Given the description of an element on the screen output the (x, y) to click on. 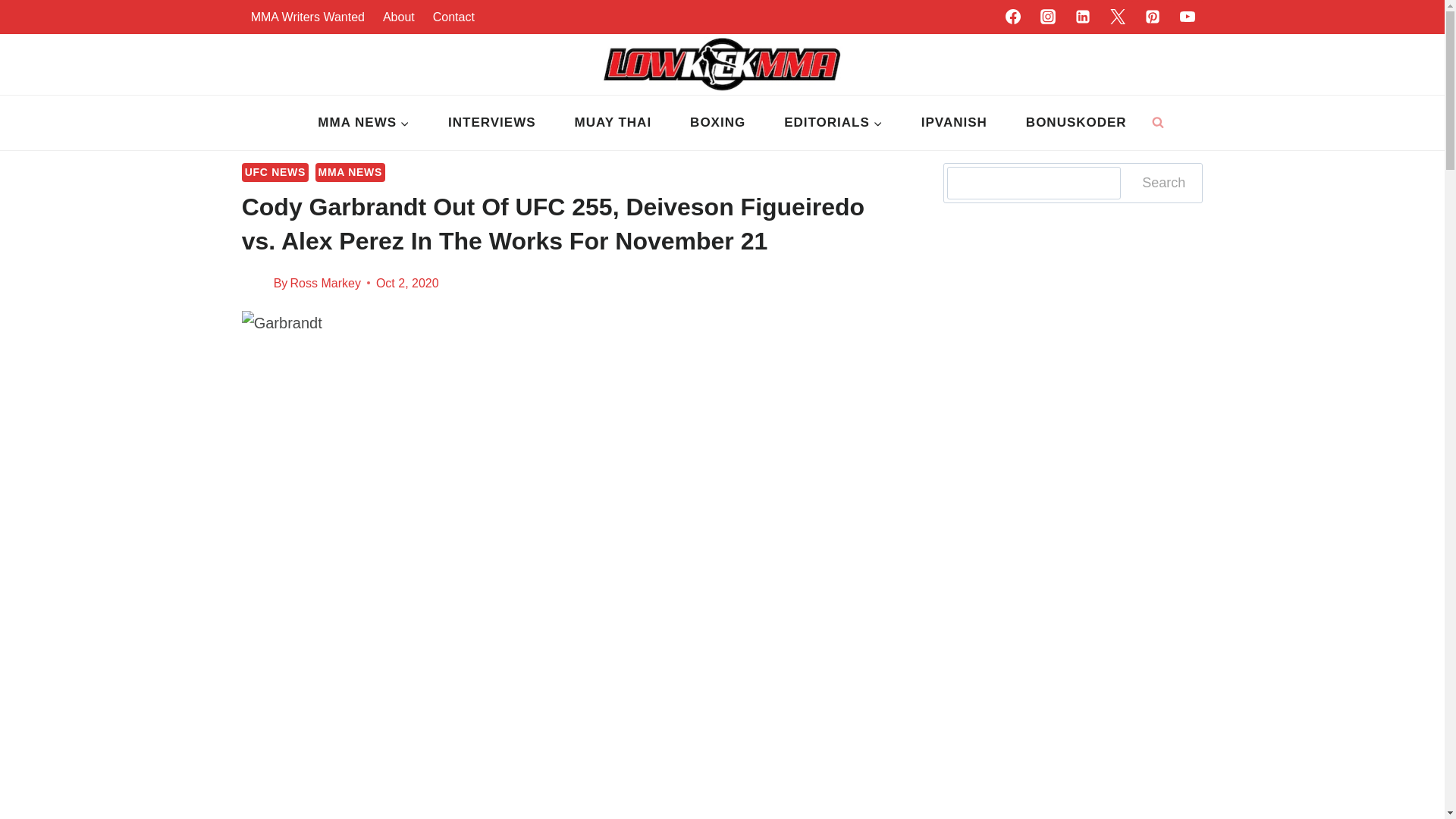
MMA NEWS (363, 122)
BONUSKODER (1075, 122)
MMA Writers Wanted (307, 17)
MUAY THAI (612, 122)
BOXING (718, 122)
INTERVIEWS (491, 122)
Contact (453, 17)
EDITORIALS (833, 122)
